Given the description of an element on the screen output the (x, y) to click on. 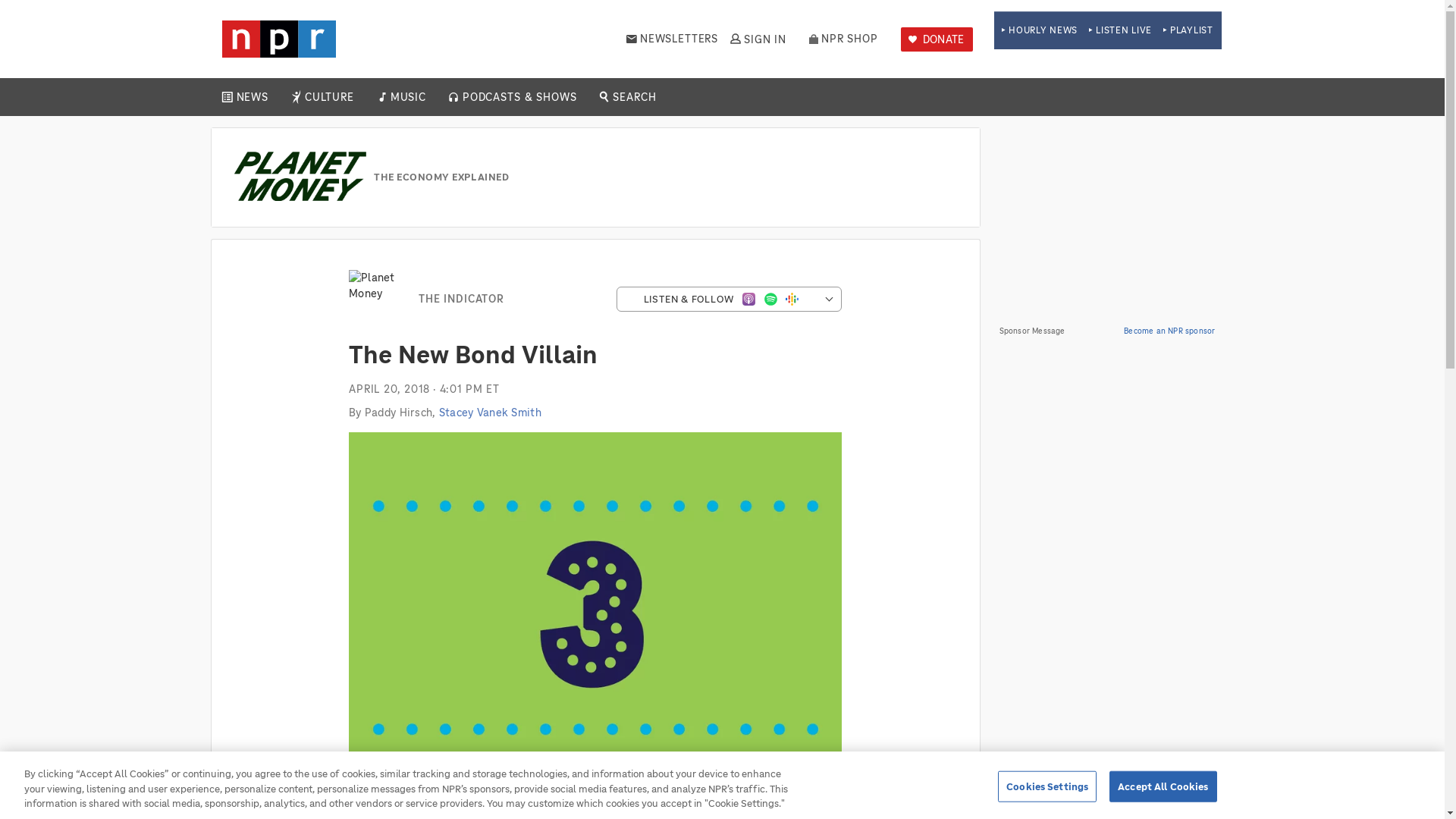
DONATE (936, 39)
HOURLY NEWS (1039, 30)
LISTEN LIVE (1120, 30)
MUSIC (407, 96)
NEWSLETTERS (671, 38)
PLAYLIST (1187, 30)
SIGN IN (757, 38)
NEWS (251, 96)
CULTURE (328, 96)
NPR SHOP (843, 38)
